Given the description of an element on the screen output the (x, y) to click on. 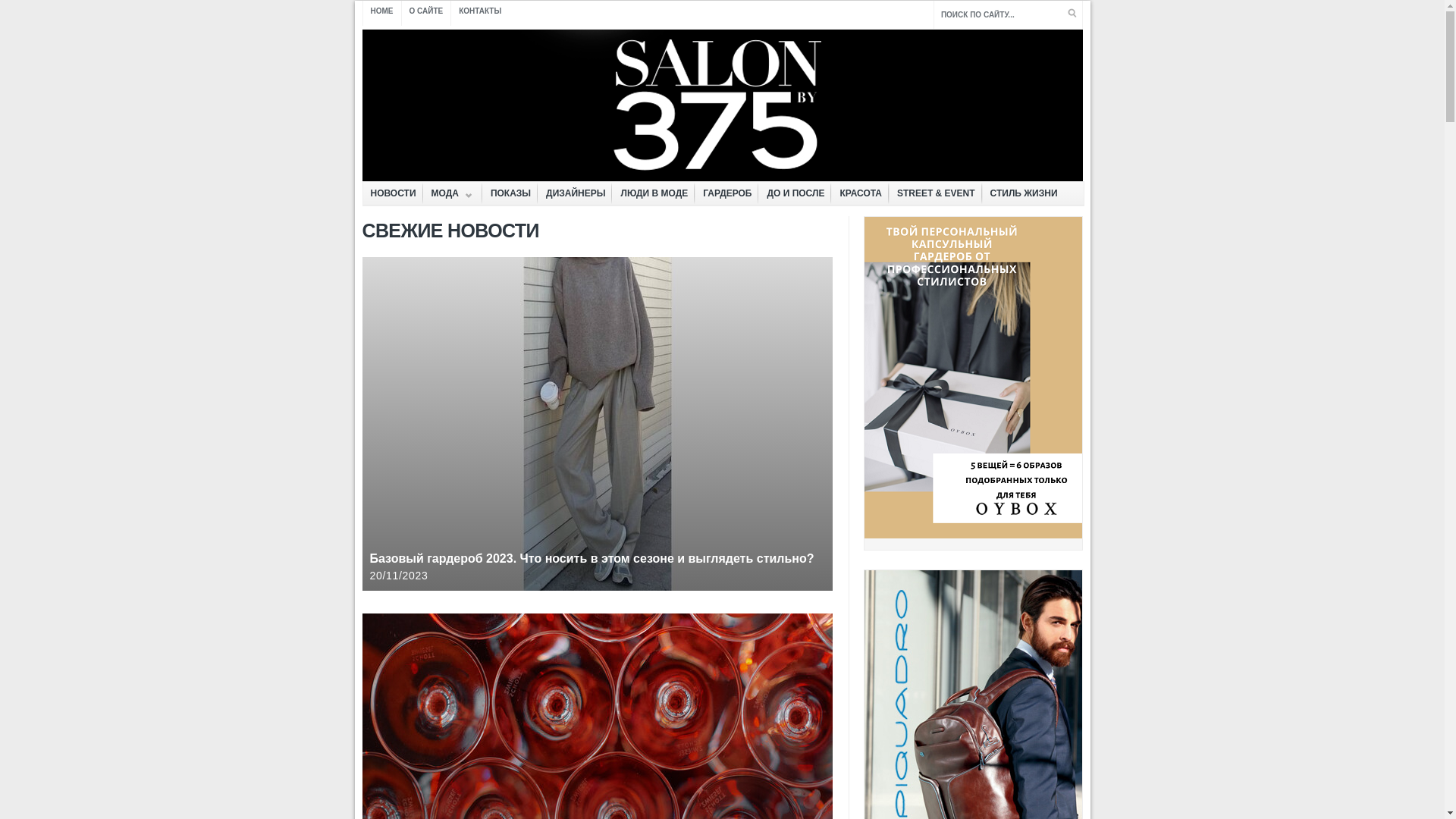
HOME Element type: text (381, 12)
STREET & EVENT Element type: text (935, 194)
